Given the description of an element on the screen output the (x, y) to click on. 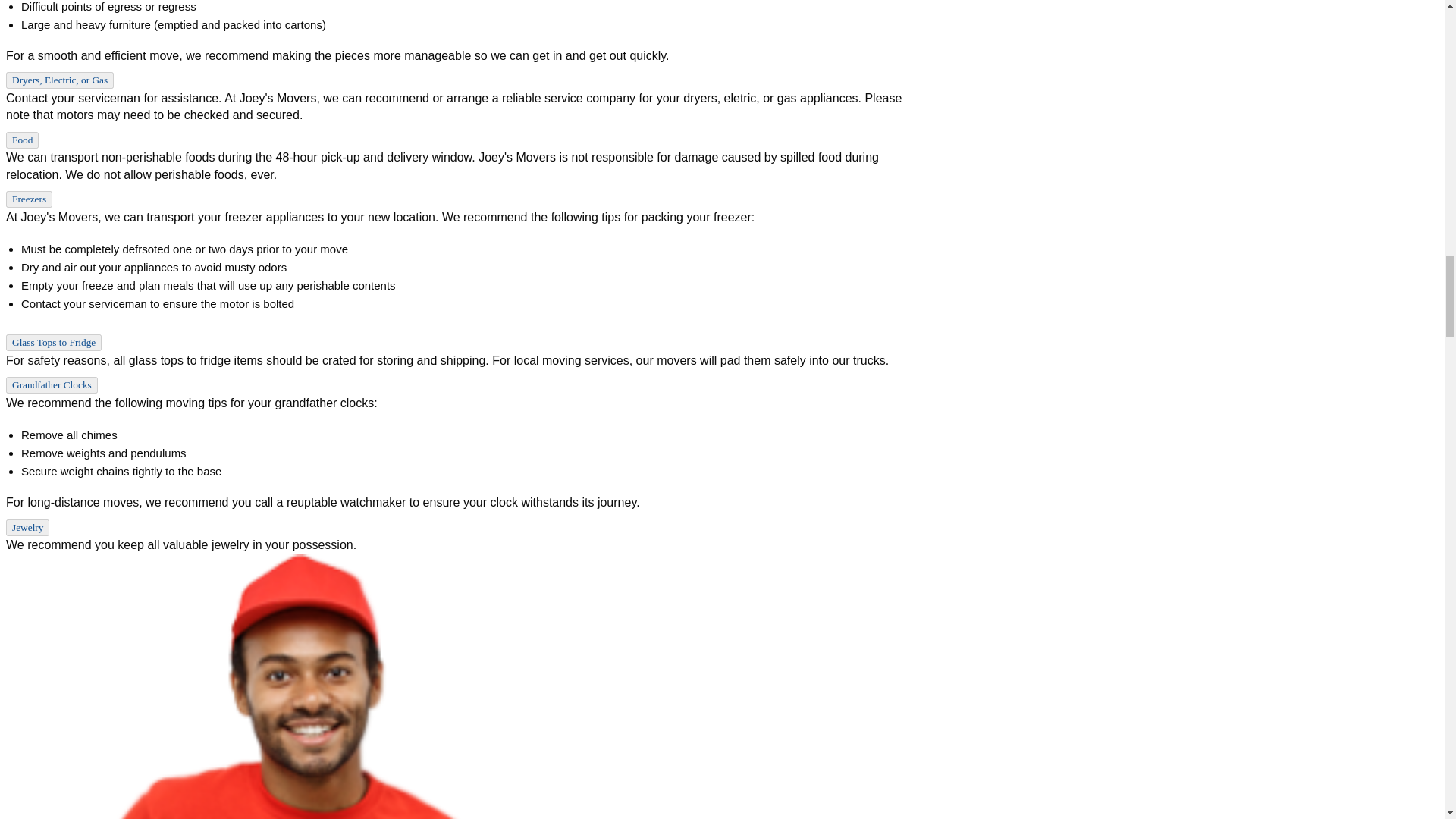
Grandfather Clocks (51, 384)
Freezers (28, 199)
Glass Tops to Fridge (53, 342)
Dryers, Electric, or Gas (59, 80)
Jewelry (27, 527)
Food (22, 139)
